Given the description of an element on the screen output the (x, y) to click on. 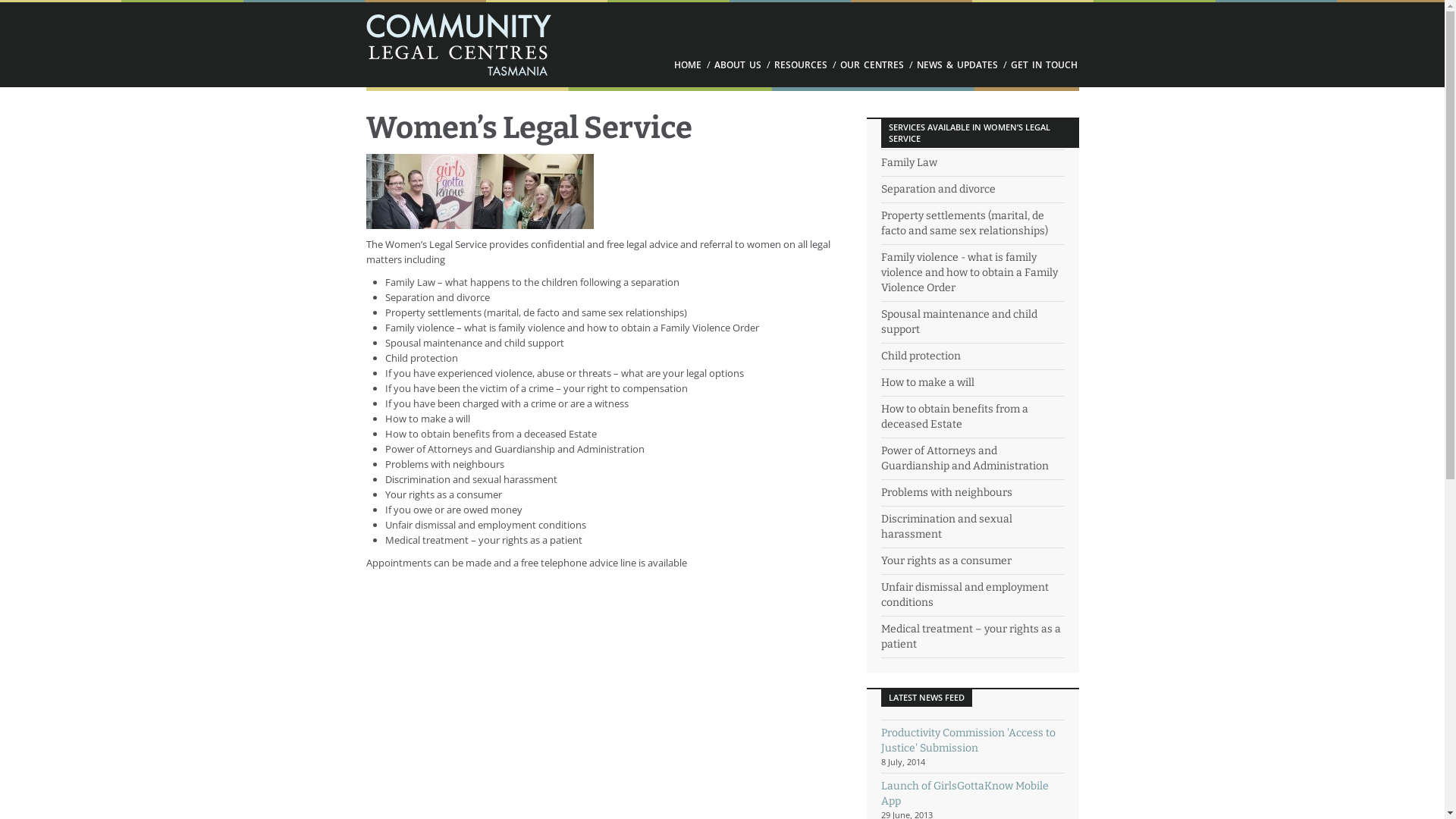
Productivity Commission 'Access to Justice' Submission Element type: text (968, 740)
Launch of GirlsGottaKnow Mobile App Element type: text (964, 793)
GET IN TOUCH Element type: text (1043, 64)
RESOURCES Element type: text (799, 64)
ABOUT US Element type: text (737, 64)
OUR CENTRES Element type: text (871, 64)
NEWS & UPDATES Element type: text (956, 64)
HOME Element type: text (686, 64)
